Given the description of an element on the screen output the (x, y) to click on. 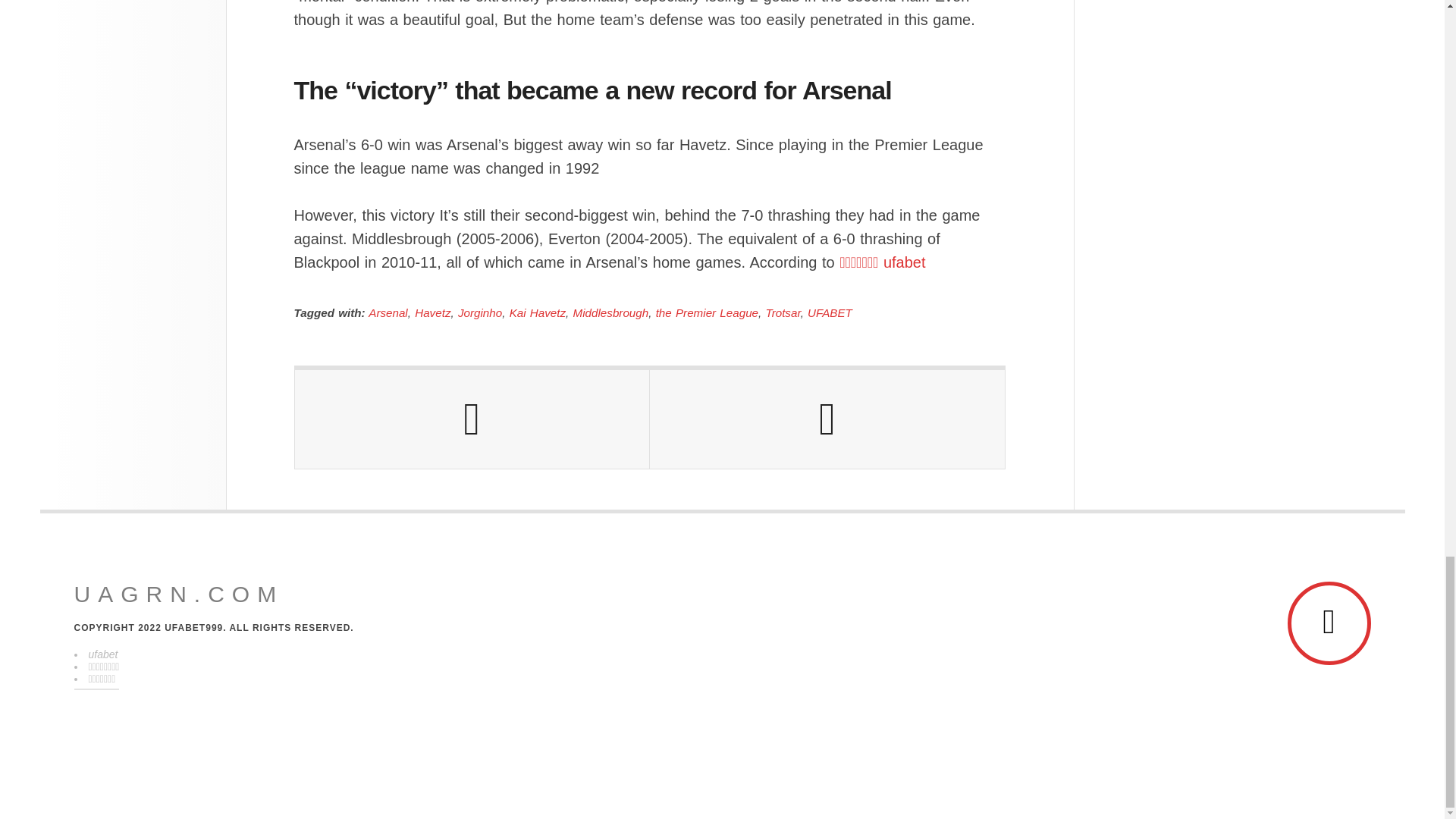
uagrn.com (178, 594)
Jorginho (480, 312)
Middlesbrough (611, 312)
the Premier League (707, 312)
Kai Havetz (537, 312)
Next Post (826, 419)
Arsenal (387, 312)
UFABET (829, 312)
Previous Post (471, 419)
Trotsar (782, 312)
